Given the description of an element on the screen output the (x, y) to click on. 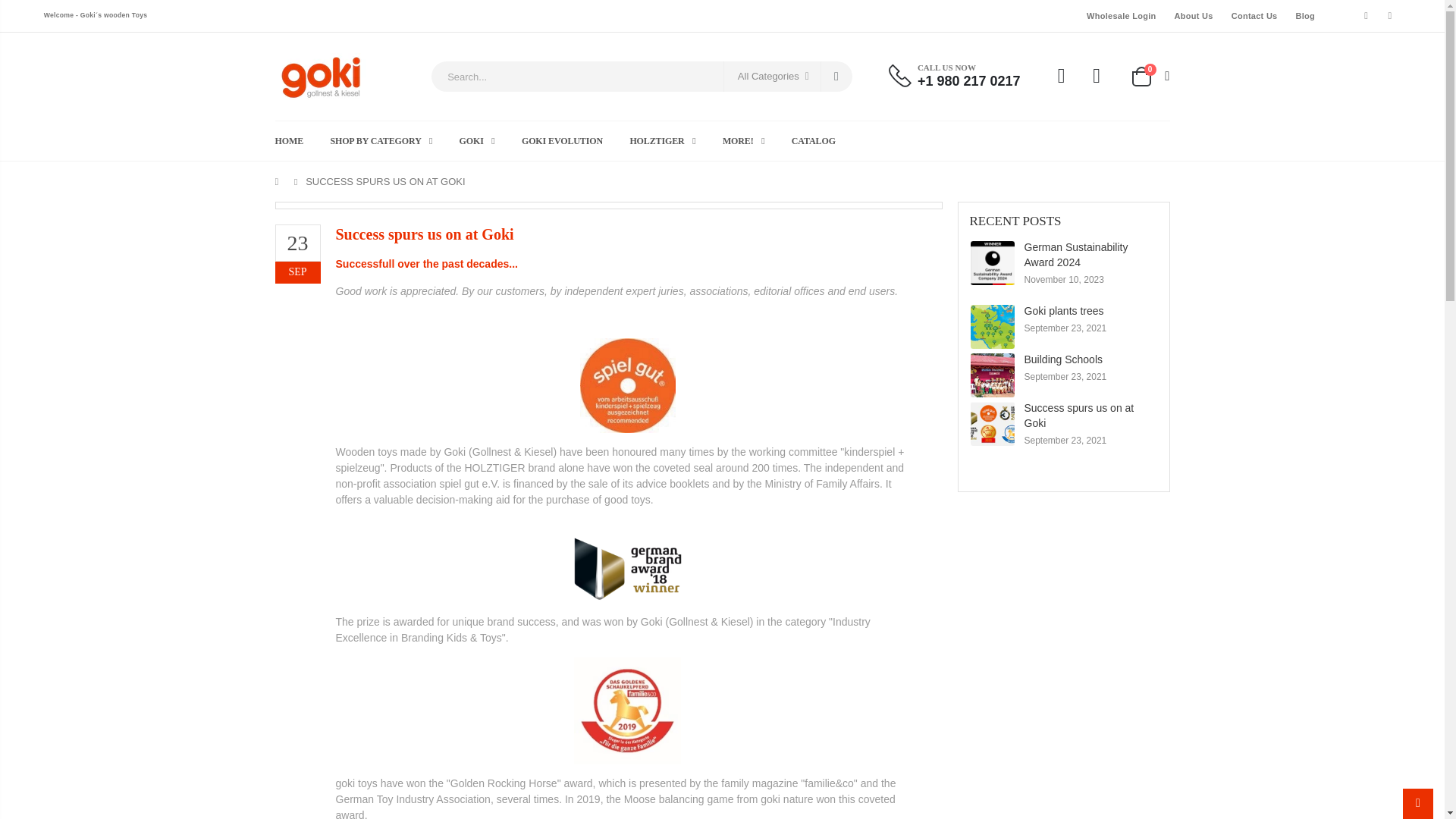
About Us (1193, 15)
All Categories (772, 76)
Contact Us (1254, 15)
Wholesale Login (1121, 15)
Blog (1304, 15)
All Categories (772, 76)
